Given the description of an element on the screen output the (x, y) to click on. 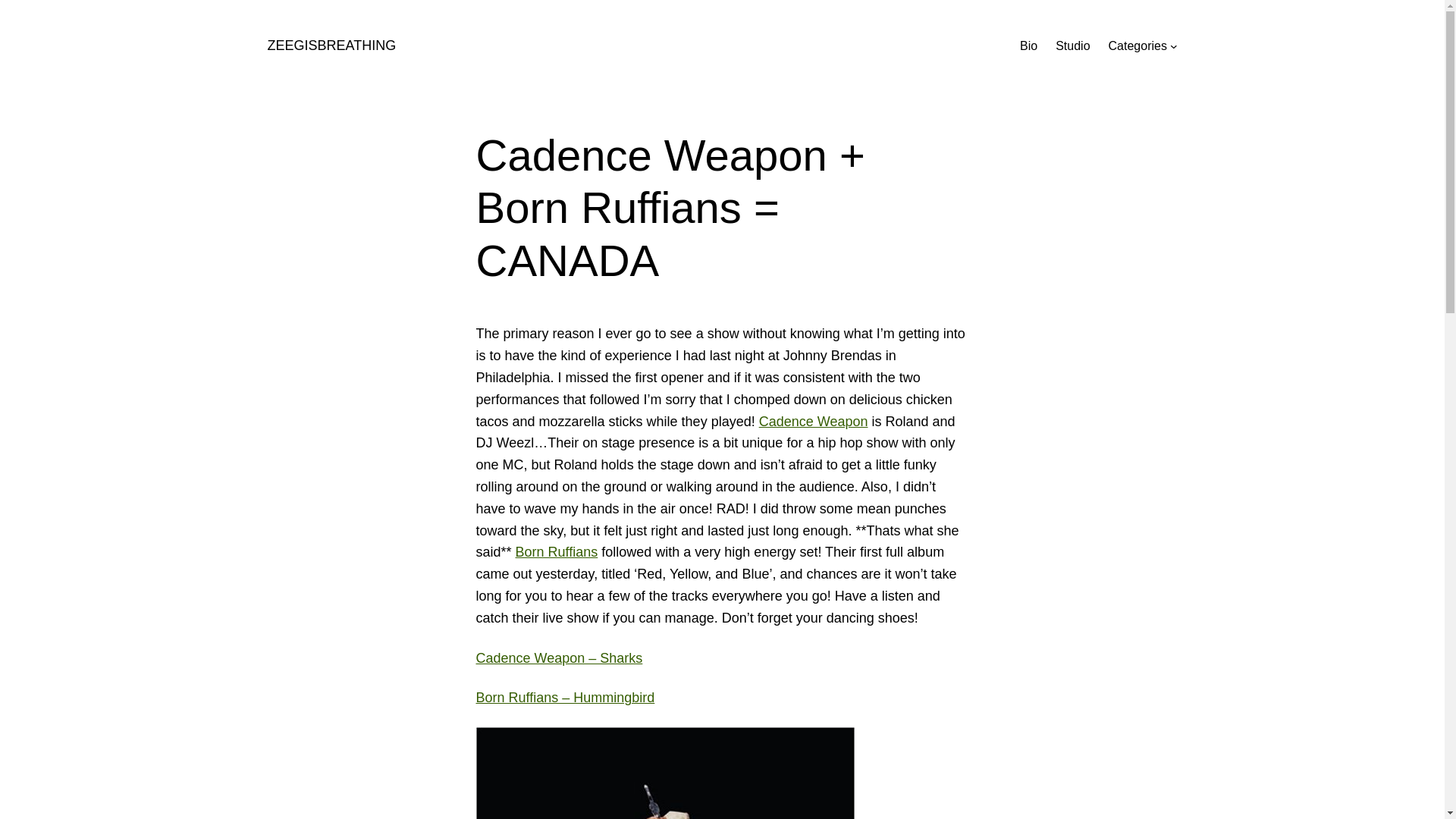
ZEEGISBREATHING (331, 45)
Cadence Weapon (812, 421)
Born Ruffians (556, 551)
born-ruffians-red-yellow-blue (666, 773)
Categories (1137, 46)
Born Ruffians - Hummingbird (565, 697)
Studio (1072, 46)
Cadence Weapon - Sharks (559, 657)
